Given the description of an element on the screen output the (x, y) to click on. 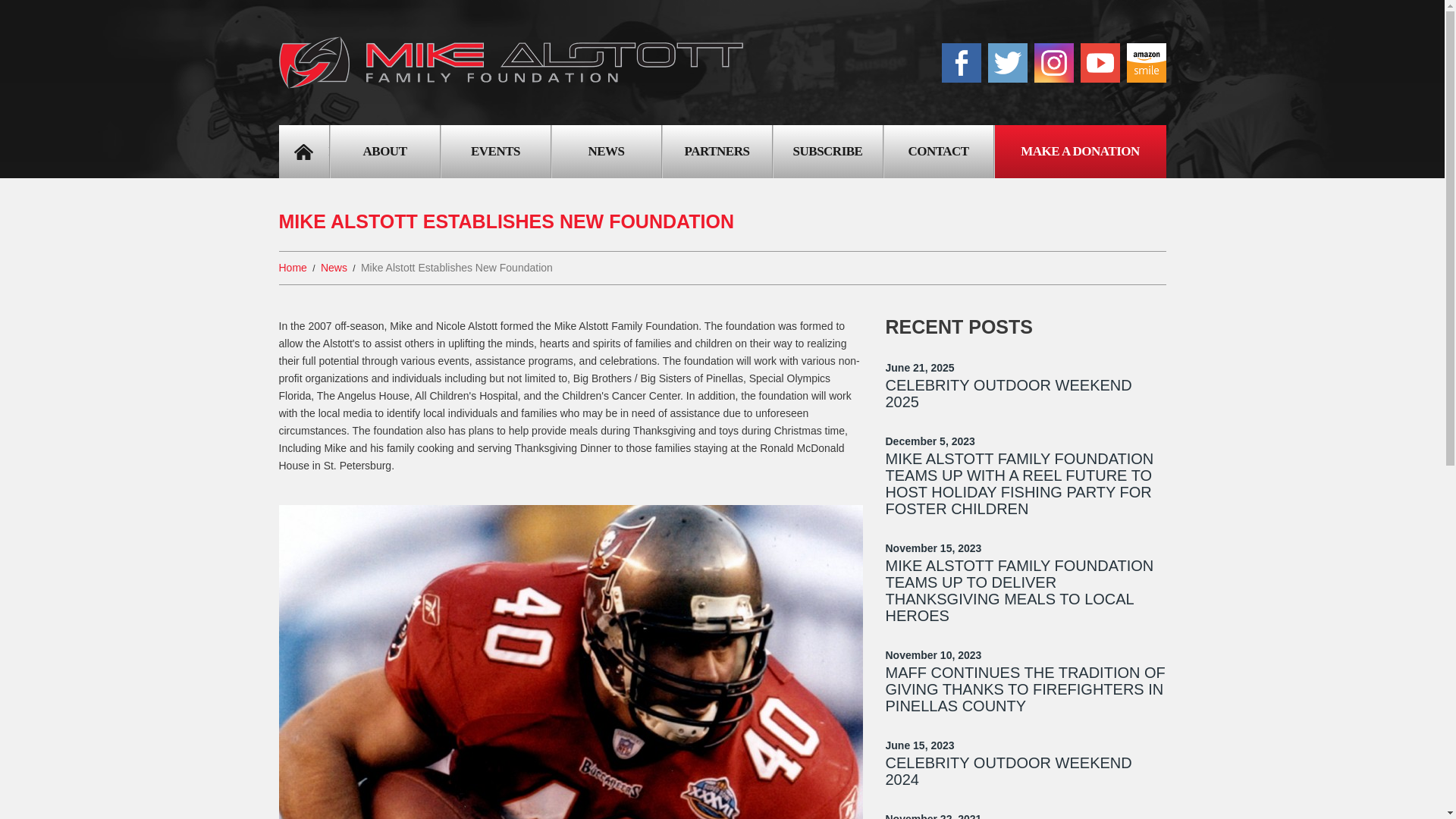
NEWS (606, 151)
Follow Us on Twitter (1006, 62)
CONTACT (937, 151)
Follow Us on Facebook (961, 62)
Celebrity Outdoor Weekend 2024 (1008, 770)
Support MAFF on AmazonSmile (1146, 62)
